Given the description of an element on the screen output the (x, y) to click on. 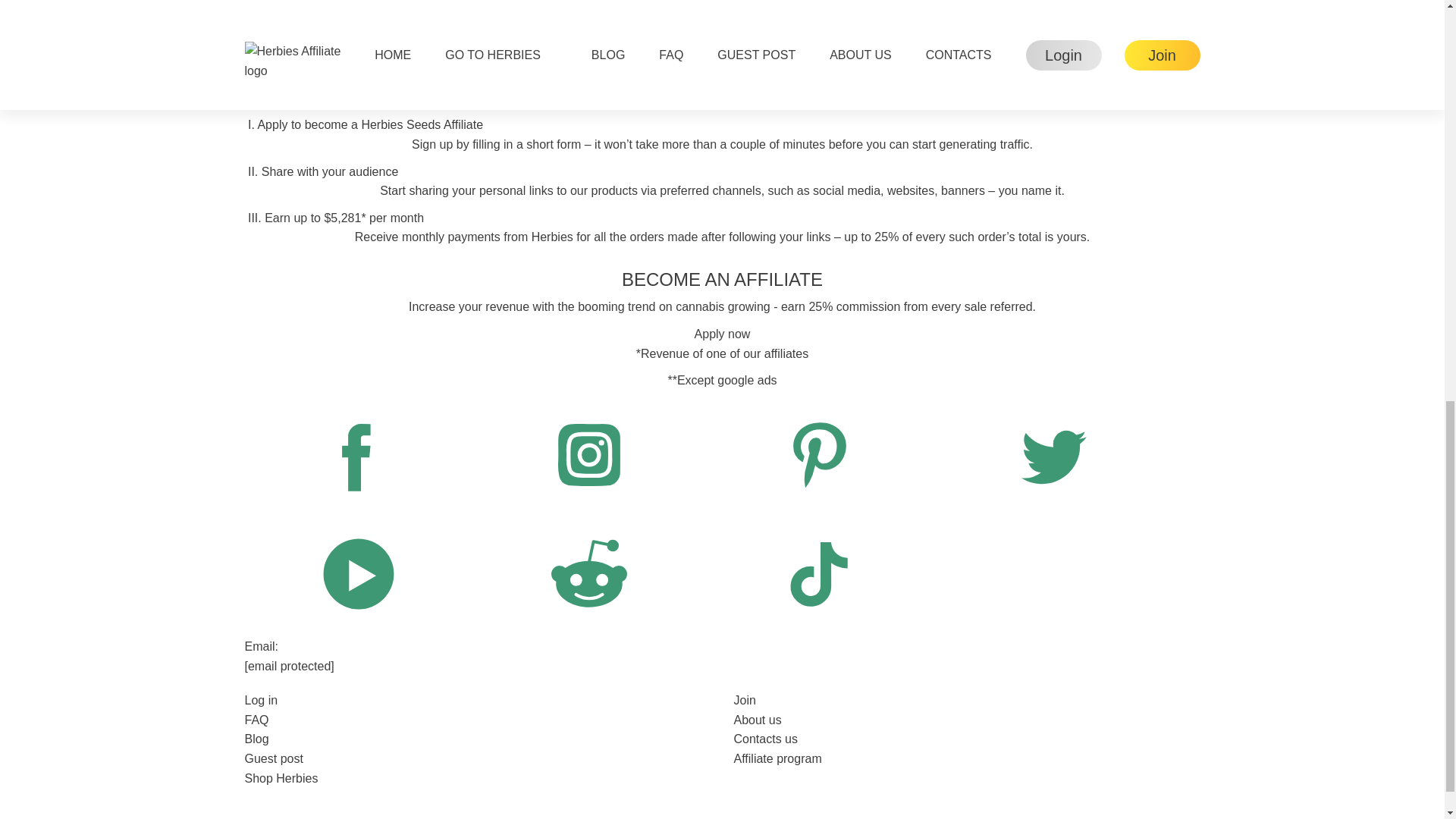
FAQ (477, 720)
Blog (477, 739)
Affiliate program (966, 759)
Join (966, 700)
Contacts us (966, 739)
About us (966, 720)
Log in (477, 700)
Apply now (721, 333)
Shop Herbies (477, 778)
Guest post (477, 759)
